Given the description of an element on the screen output the (x, y) to click on. 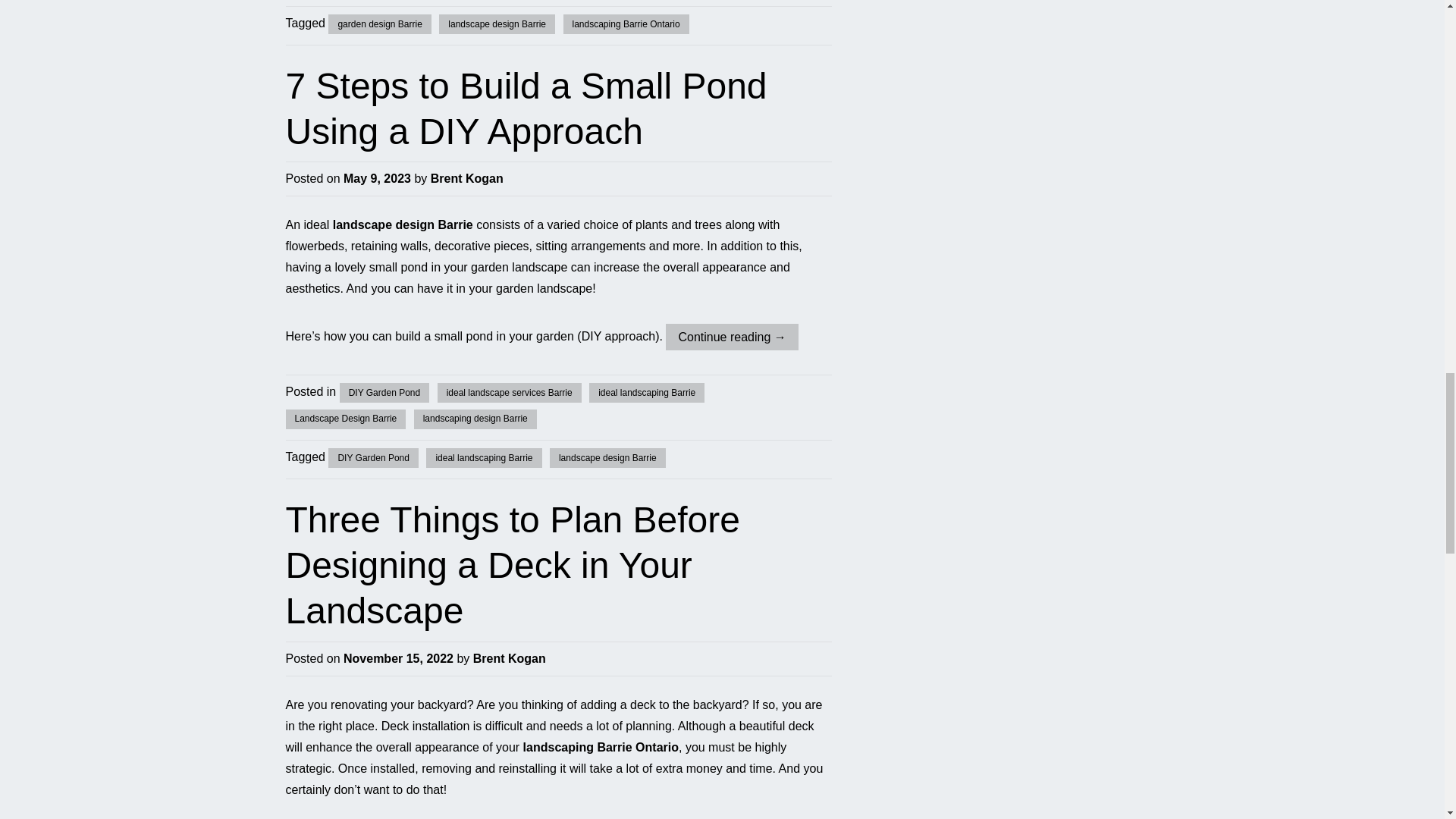
2:27 pm (376, 178)
3:08 pm (397, 658)
View all posts by Brent Kogan (509, 658)
View all posts by Brent Kogan (466, 178)
